Given the description of an element on the screen output the (x, y) to click on. 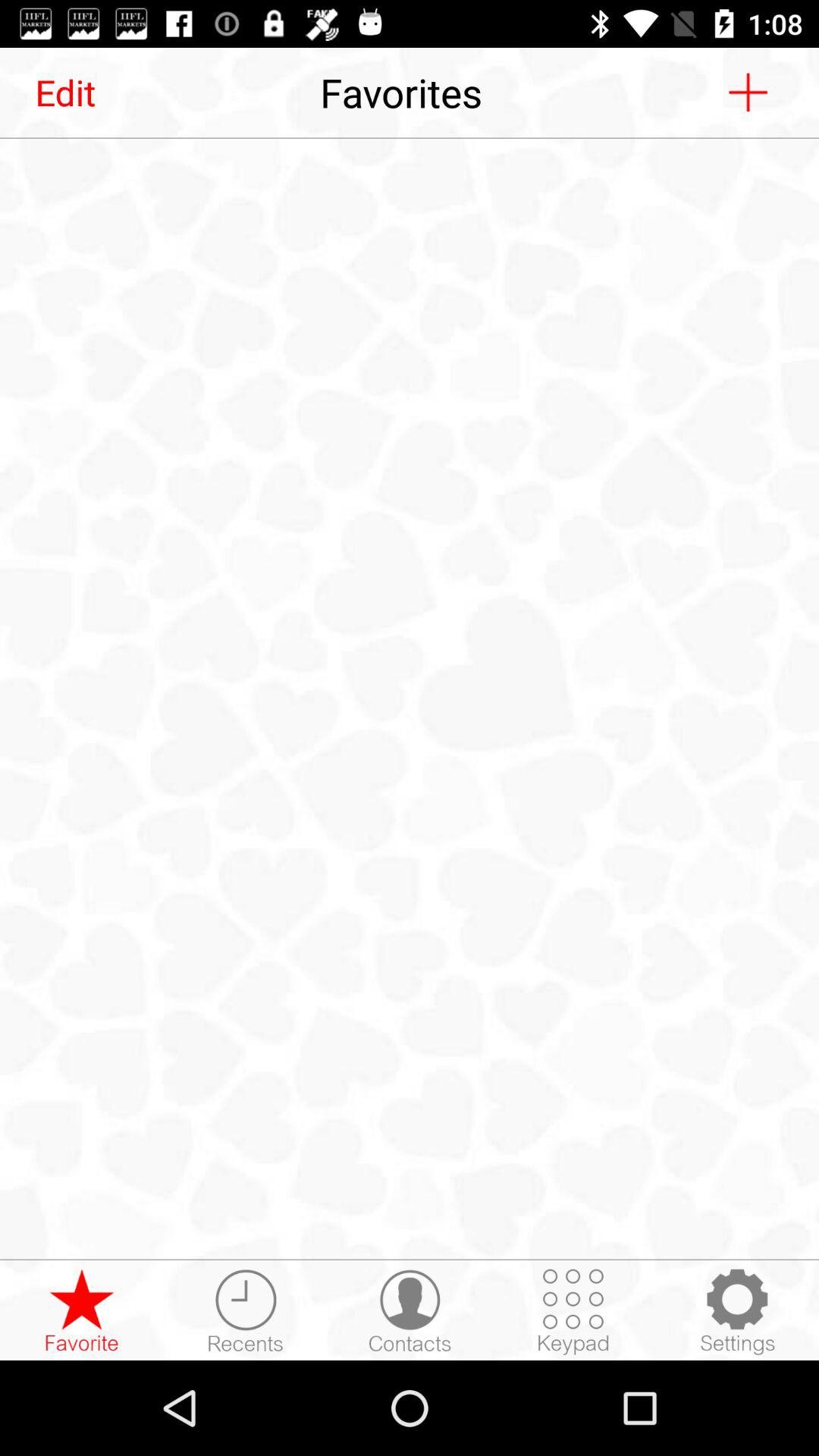
go to settings menu (737, 1311)
